Given the description of an element on the screen output the (x, y) to click on. 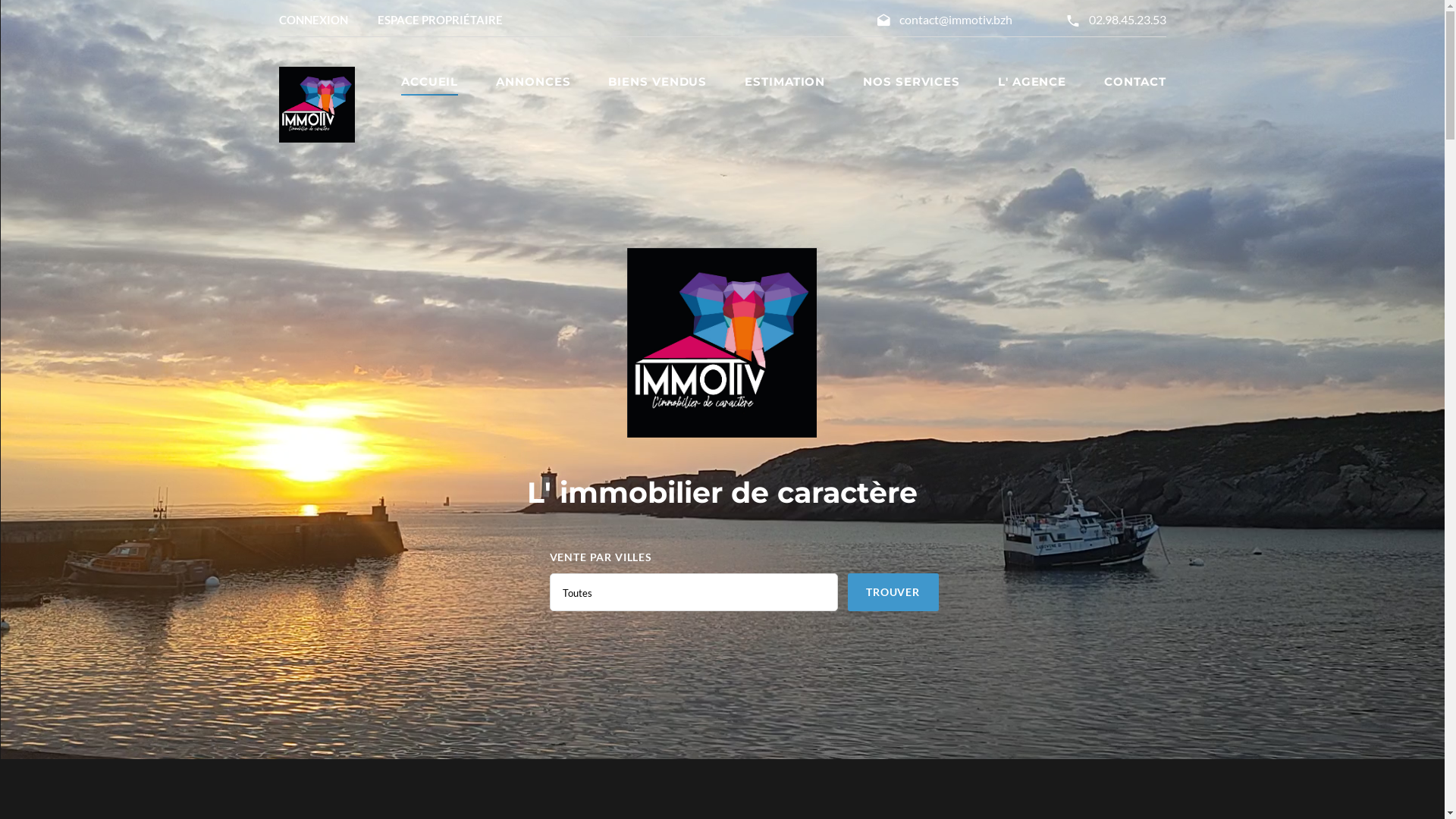
02.98.45.23.53 Element type: text (1127, 19)
ANNONCES Element type: text (532, 81)
CONTACT Element type: text (1134, 81)
CONNEXION Element type: text (313, 19)
contact@immotiv.bzh Element type: text (955, 19)
NOS SERVICES Element type: text (911, 81)
BIENS VENDUS Element type: text (657, 81)
L' AGENCE Element type: text (1031, 81)
ACCUEIL Element type: text (429, 81)
TROUVER Element type: text (892, 592)
ESTIMATION Element type: text (784, 81)
